Given the description of an element on the screen output the (x, y) to click on. 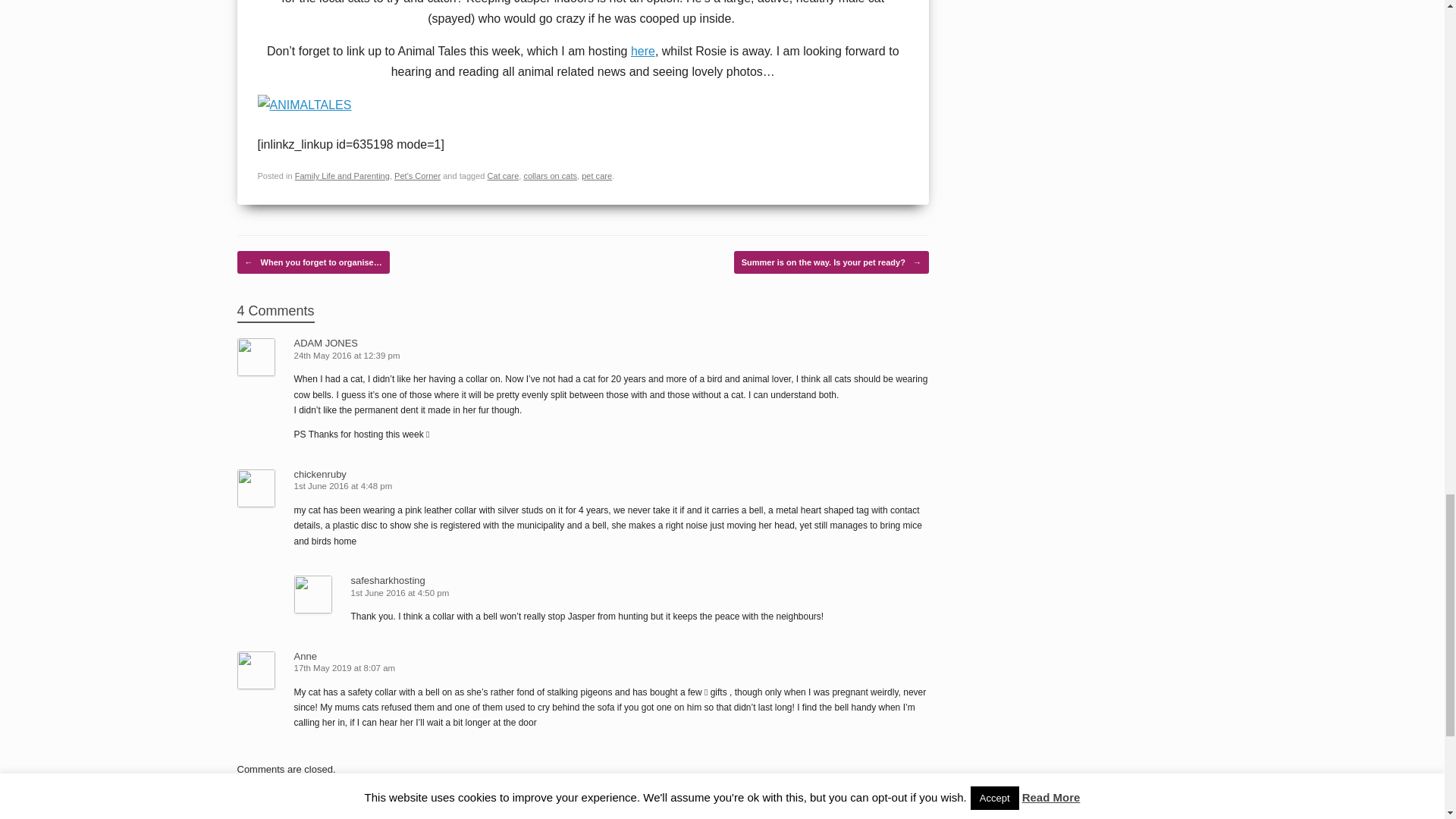
Cat care (503, 175)
17th May 2019 at 8:07 am (345, 667)
1st June 2016 at 4:48 pm (344, 485)
pet care (595, 175)
1st June 2016 at 4:50 pm (400, 592)
Pet's Corner (417, 175)
ADAM JONES (326, 342)
collars on cats (549, 175)
here (642, 51)
24th May 2016 at 12:39 pm (348, 355)
Family Life and Parenting (342, 175)
chickenruby (320, 473)
